Given the description of an element on the screen output the (x, y) to click on. 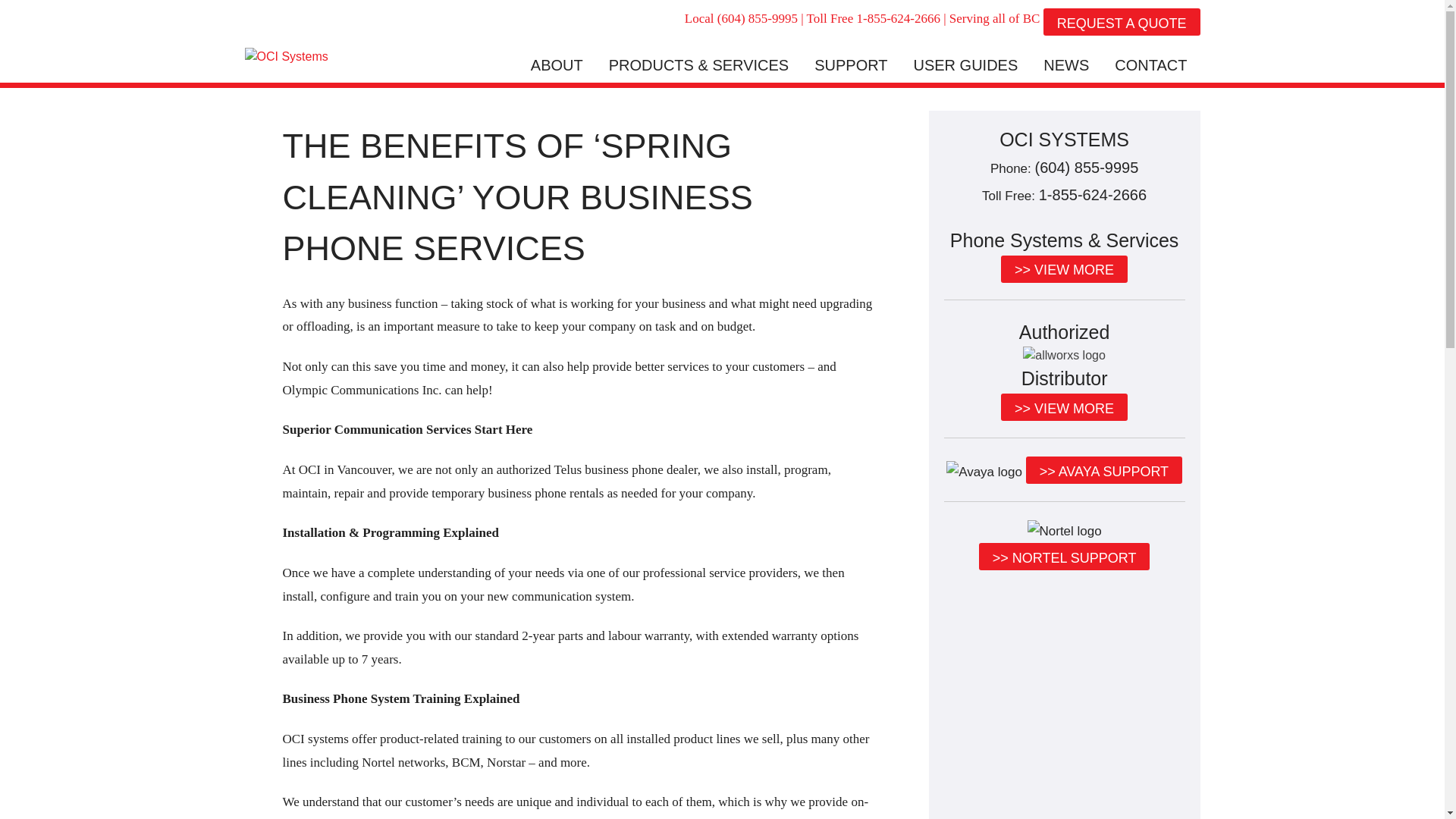
NEWS (1066, 64)
1-855-624-2666 (897, 18)
SUPPORT (849, 64)
REQUEST A QUOTE (1121, 27)
1-855-624-2666 (1093, 194)
USER GUIDES (964, 64)
REQUEST A QUOTE (1121, 22)
ABOUT (557, 64)
CONTACT (1150, 64)
